Given the description of an element on the screen output the (x, y) to click on. 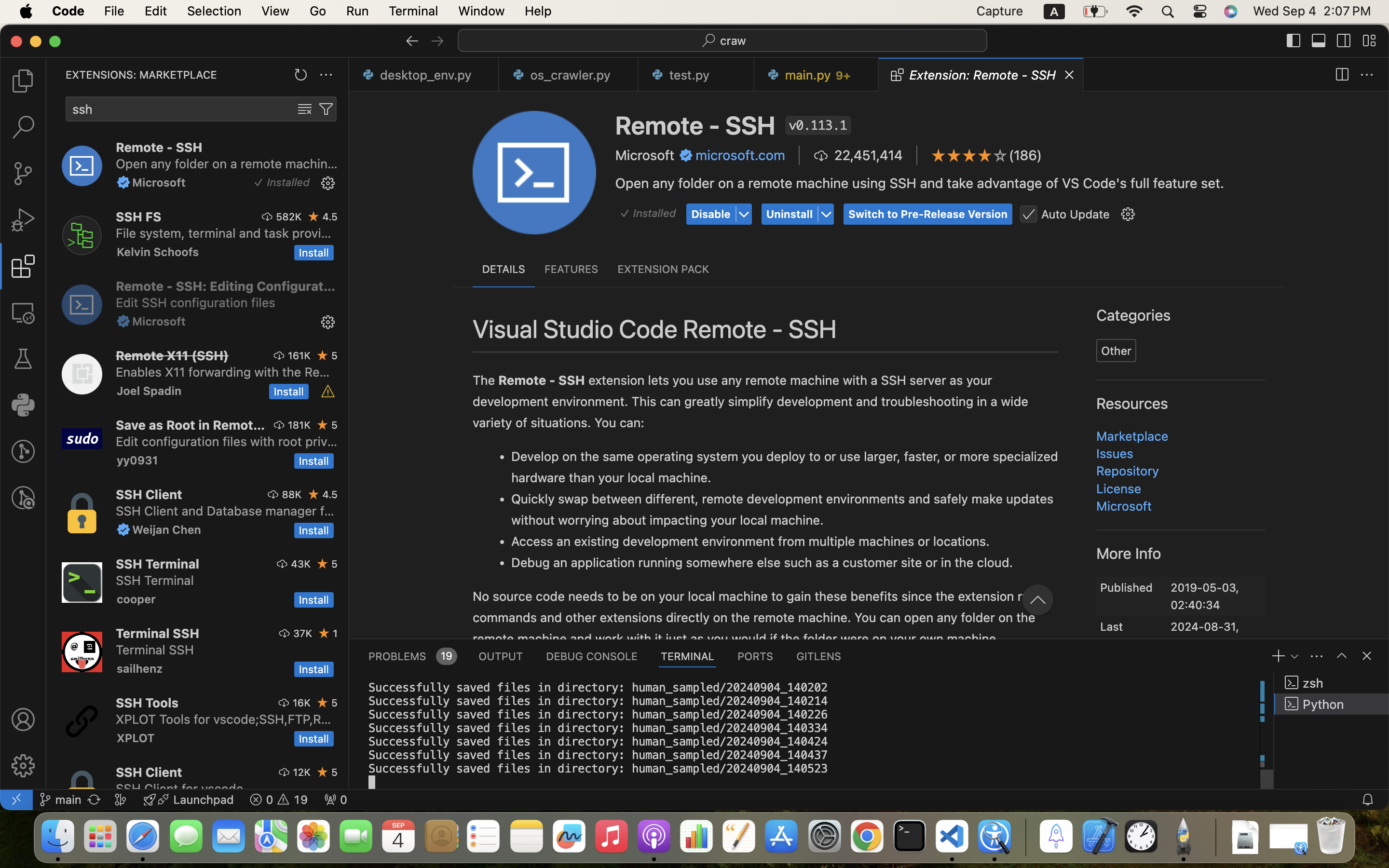
Marketplace Element type: AXStaticText (1132, 435)
 Element type: AXStaticText (267, 216)
2019-05-03, 02:40:34 Element type: AXStaticText (1205, 596)
SSH Terminal Element type: AXStaticText (157, 563)
 Element type: AXStaticText (743, 214)
